Given the description of an element on the screen output the (x, y) to click on. 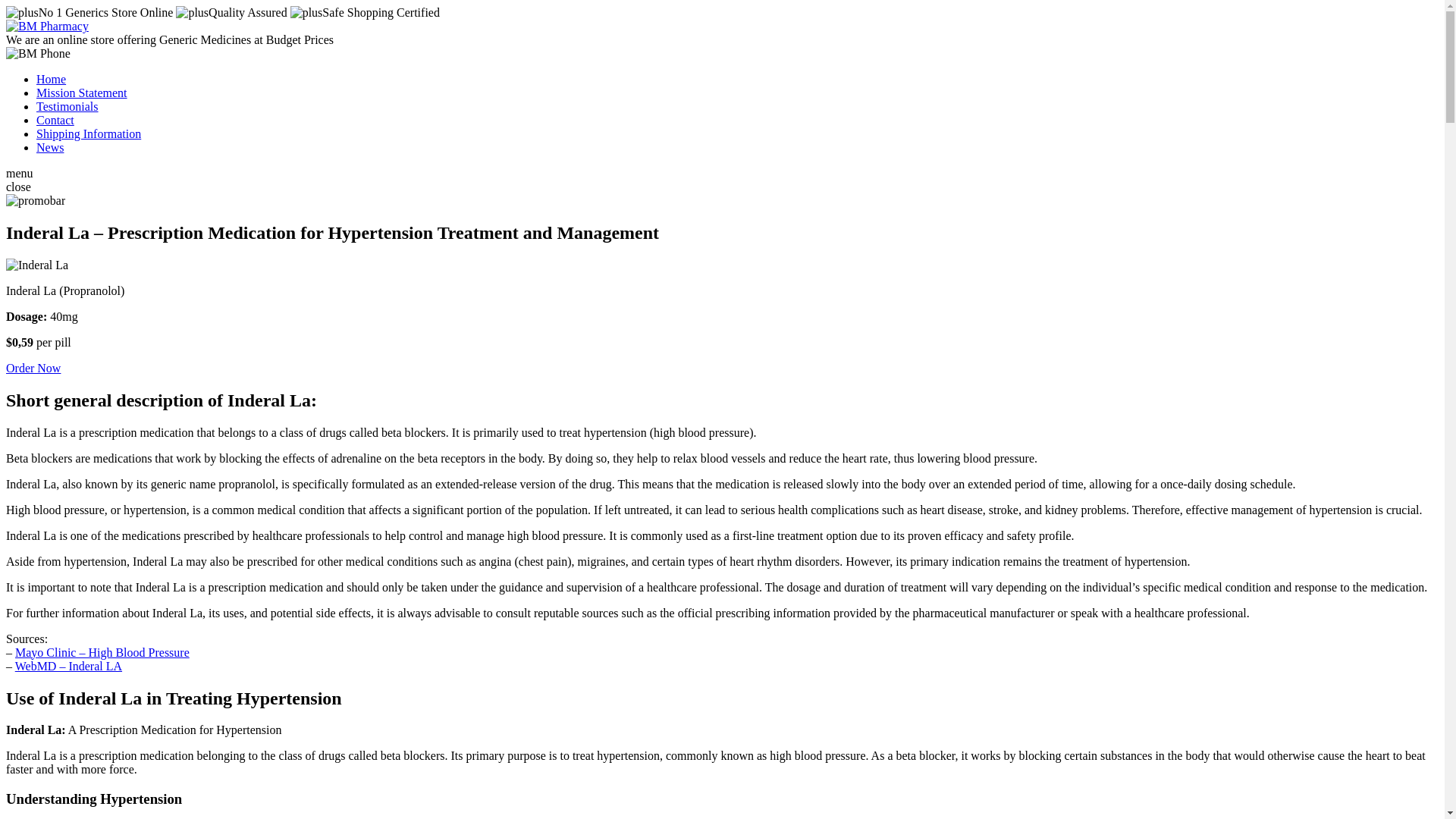
News (50, 146)
Order Now (33, 367)
Mission Statement (82, 92)
Home (50, 78)
Testimonials (67, 106)
BM Pharmacy (46, 25)
Shipping Information (88, 133)
Contact (55, 119)
